Given the description of an element on the screen output the (x, y) to click on. 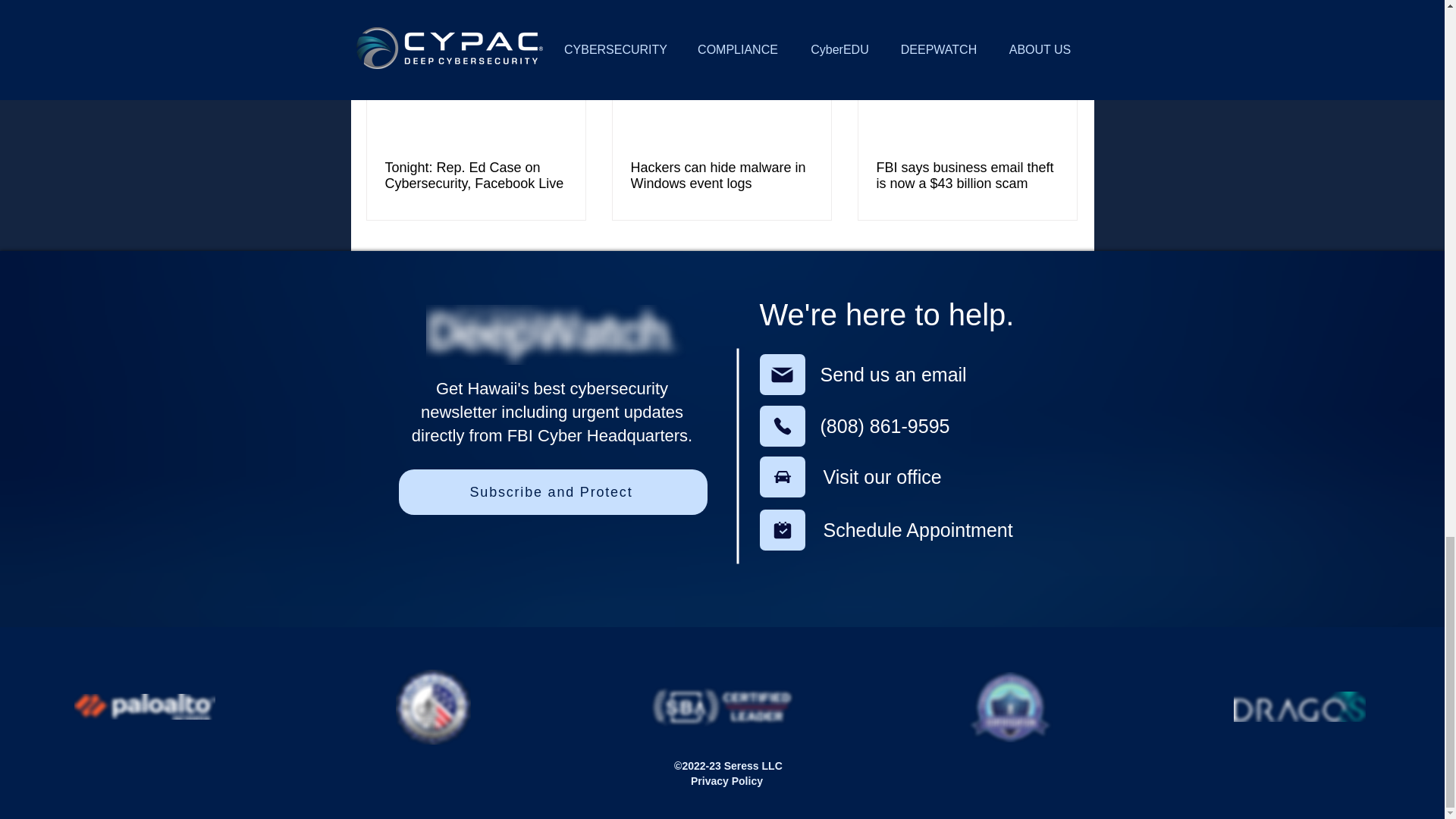
Subscribe and Protect (552, 492)
Schedule Appointment (928, 530)
Tonight: Rep. Ed Case on Cybersecurity, Facebook Live (476, 175)
Hackers can hide malware in Windows event logs (721, 175)
Visit our office (907, 476)
See All (1061, 1)
Send us an email (909, 374)
